Given the description of an element on the screen output the (x, y) to click on. 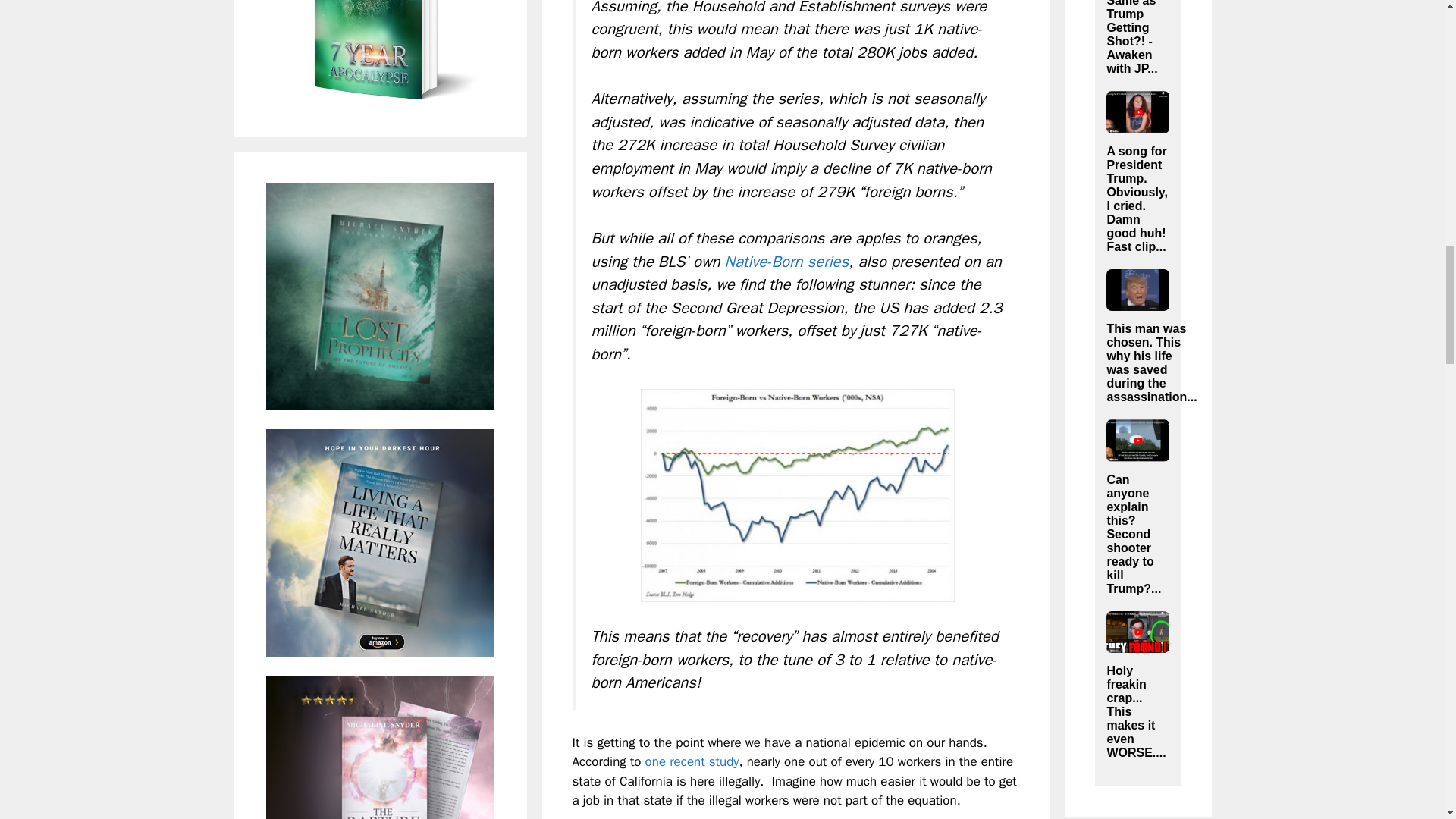
Native-Born series (786, 261)
one recent study (692, 761)
Native-Born series (786, 261)
one recent study (692, 761)
